Given the description of an element on the screen output the (x, y) to click on. 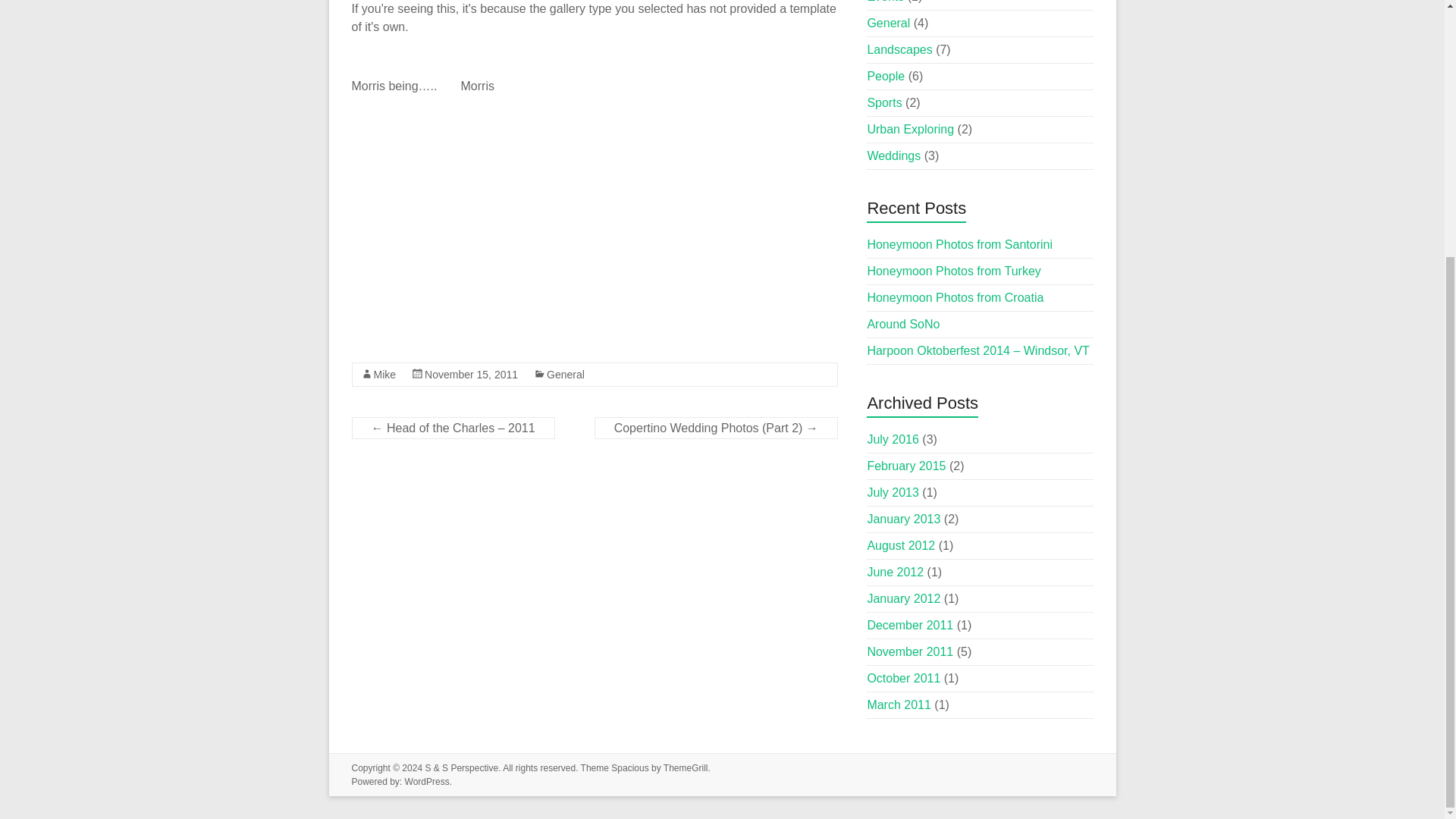
Sports (883, 102)
November 2011 (909, 651)
General (888, 22)
Spacious (629, 767)
Urban Exploring (909, 128)
January 2013 (903, 518)
August 2012 (900, 545)
June 2012 (894, 571)
General (566, 374)
July 2013 (892, 492)
